Given the description of an element on the screen output the (x, y) to click on. 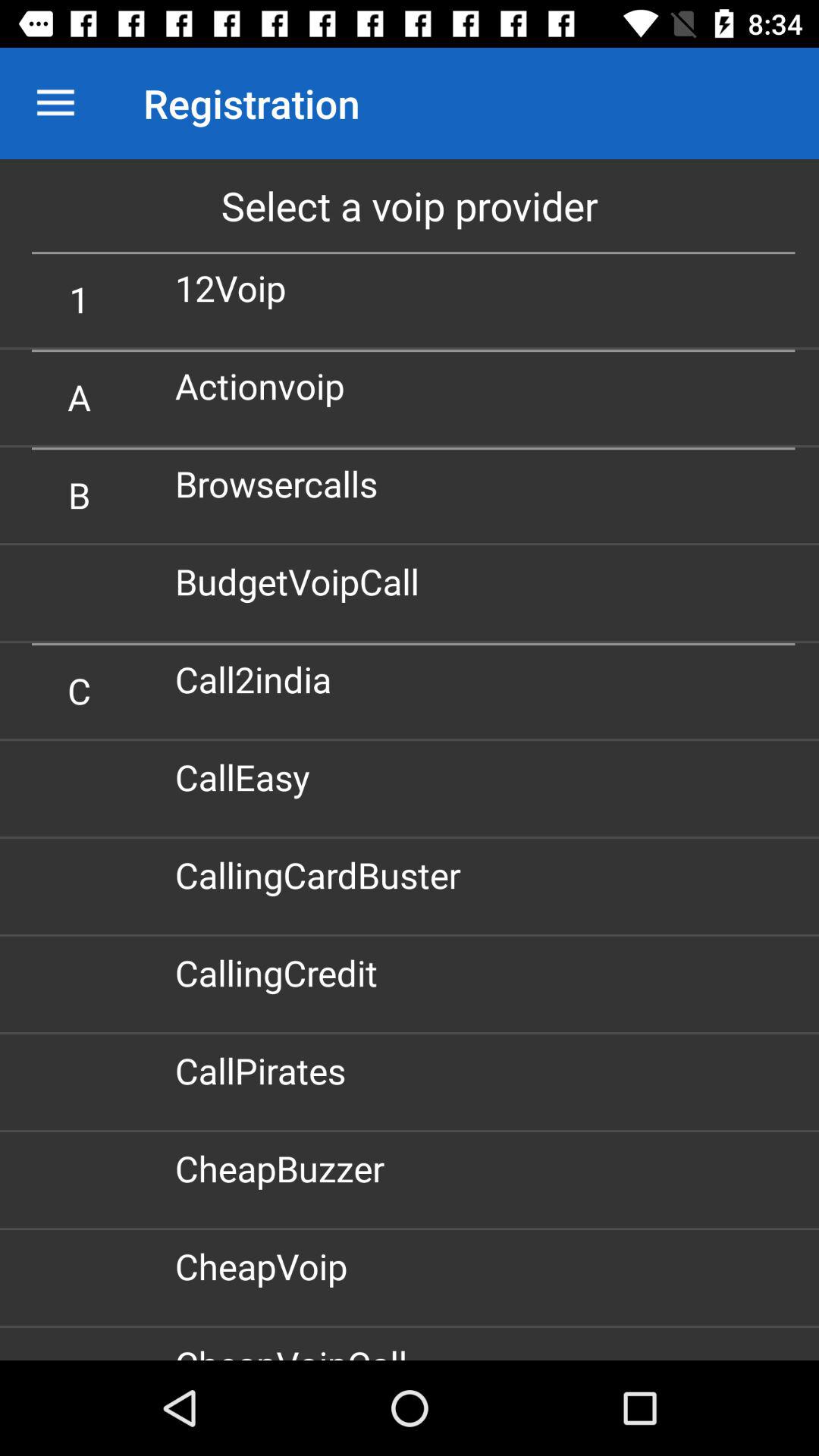
swipe until cheapvoip item (267, 1266)
